Given the description of an element on the screen output the (x, y) to click on. 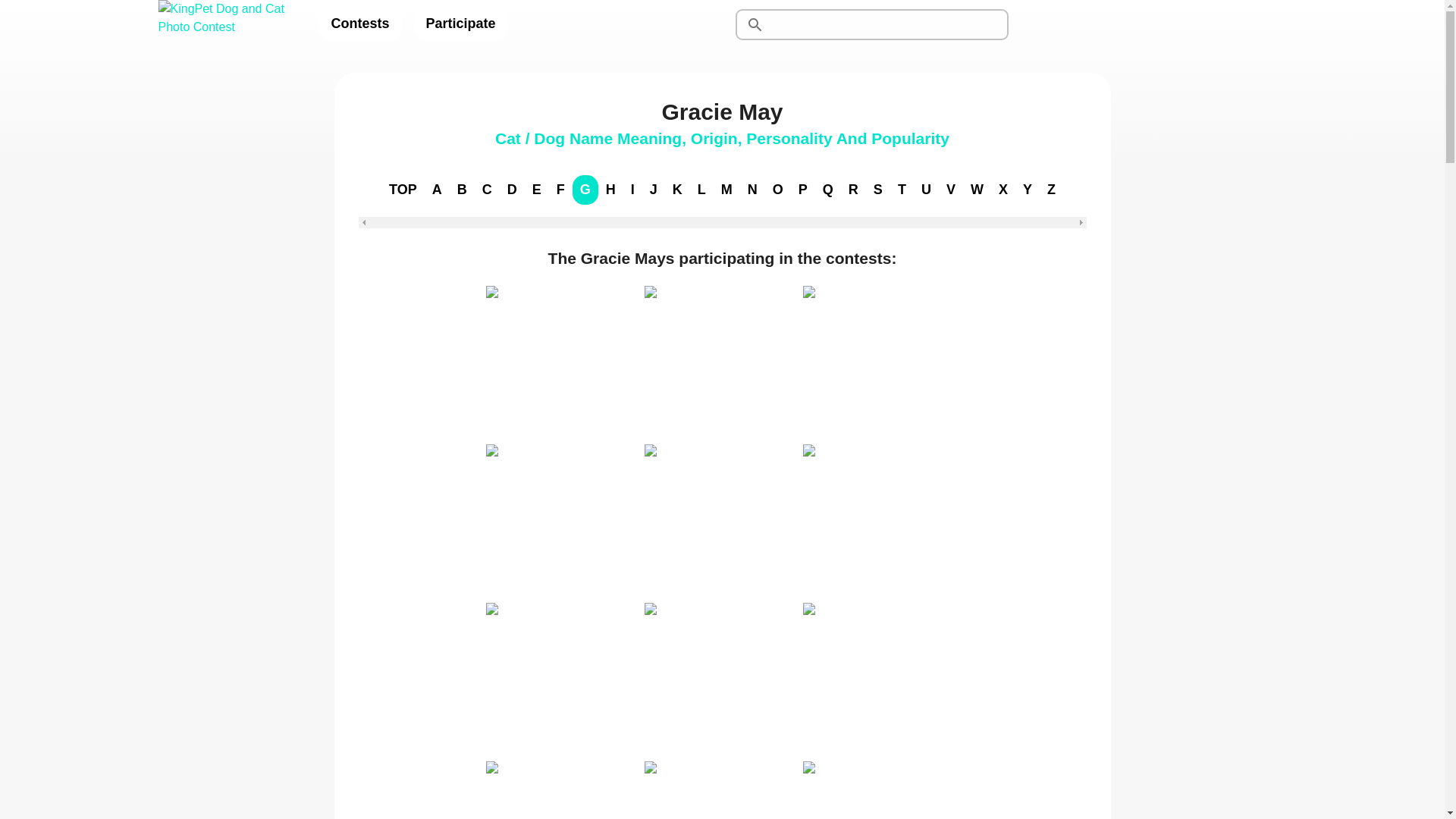
Contests (359, 23)
KingPet Dog and Cat Photo Contest (225, 24)
Participate (460, 23)
TOP (403, 189)
W (976, 189)
